Given the description of an element on the screen output the (x, y) to click on. 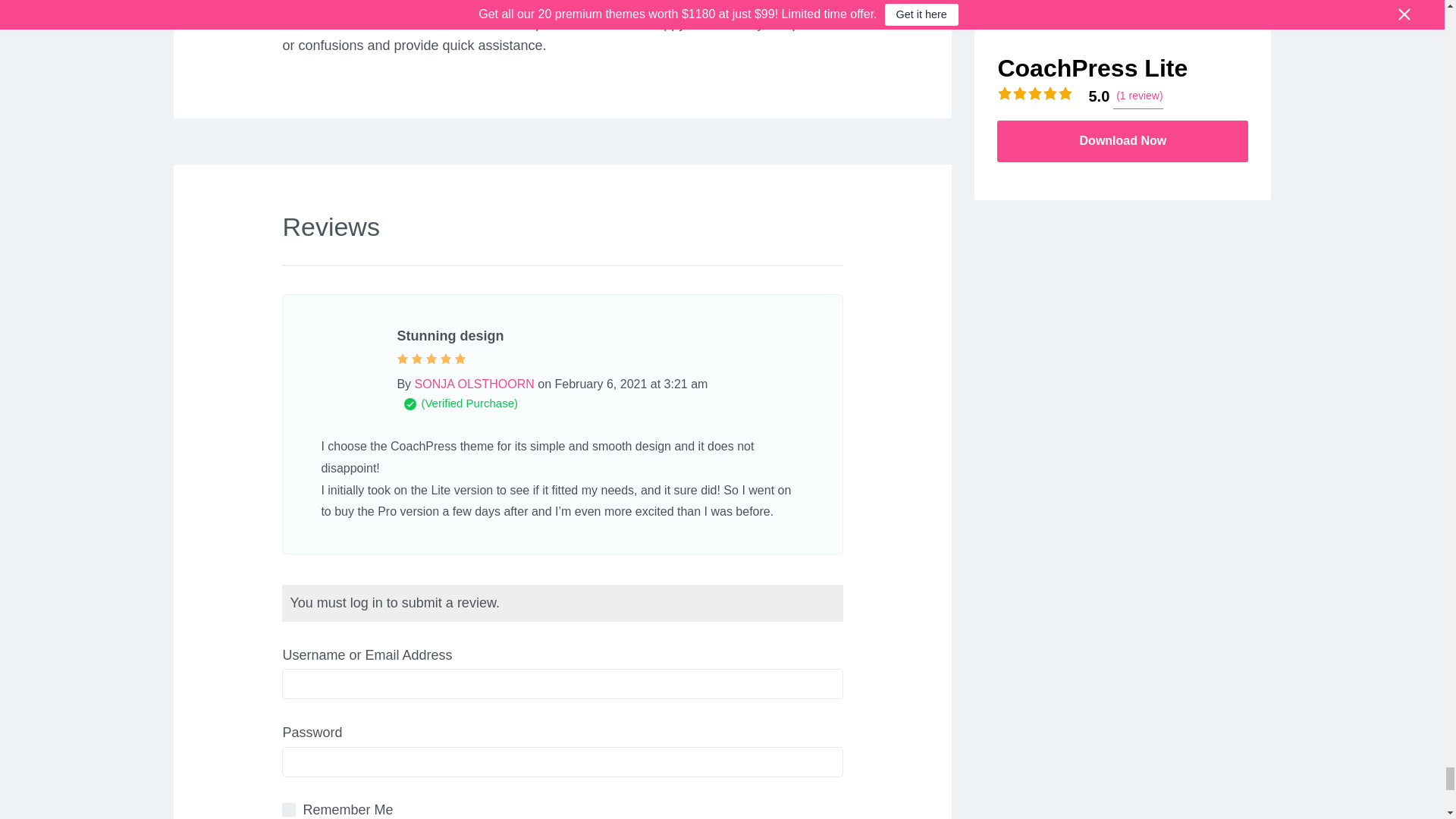
forever (288, 809)
